Given the description of an element on the screen output the (x, y) to click on. 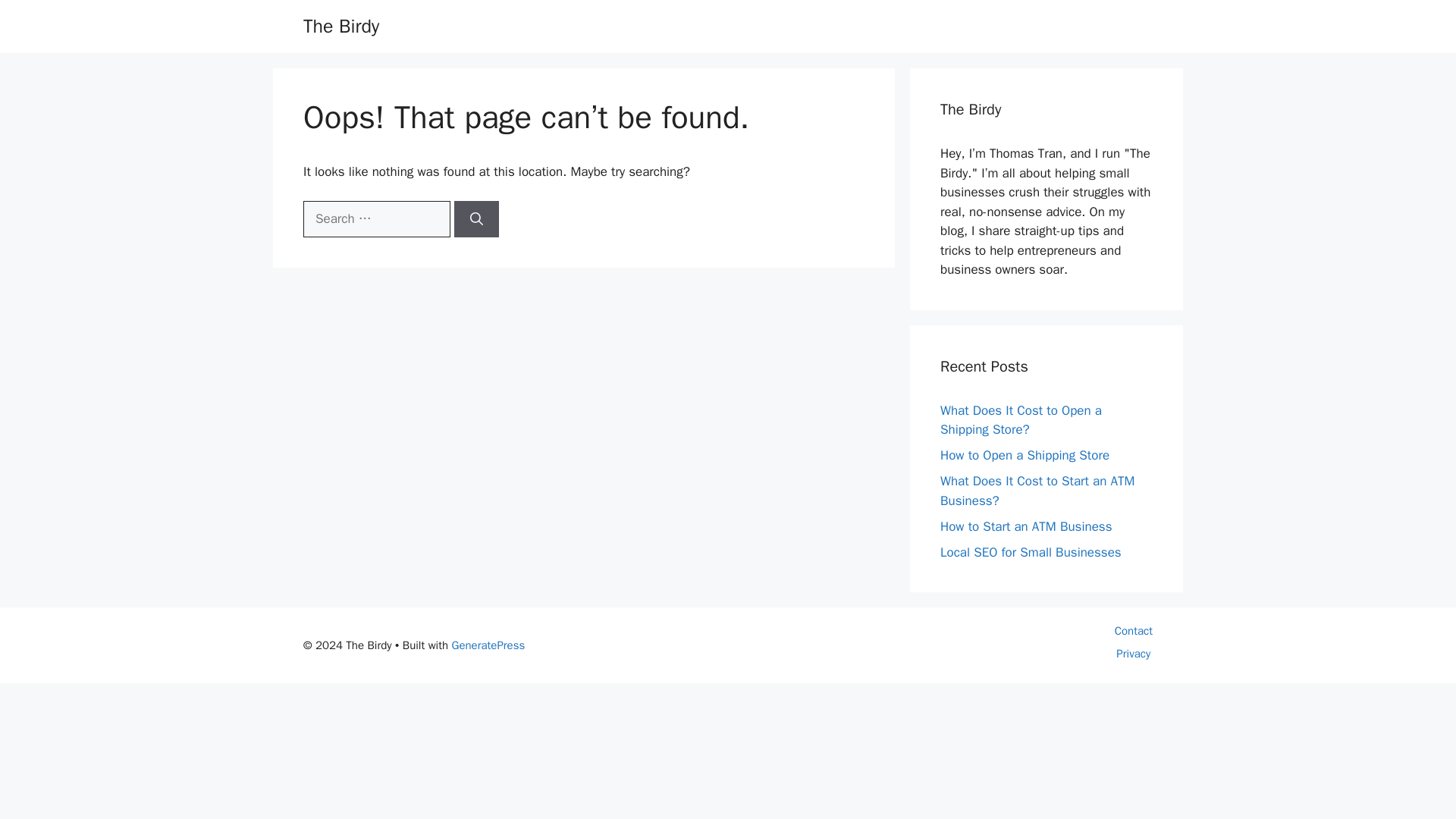
GeneratePress (488, 644)
Local SEO for Small Businesses (1030, 552)
How to Open a Shipping Store (1024, 455)
Search for: (375, 218)
What Does It Cost to Start an ATM Business? (1037, 490)
What Does It Cost to Open a Shipping Store? (1021, 419)
Privacy (1133, 653)
How to Start an ATM Business (1026, 526)
Contact (1134, 631)
The Birdy (340, 25)
